Given the description of an element on the screen output the (x, y) to click on. 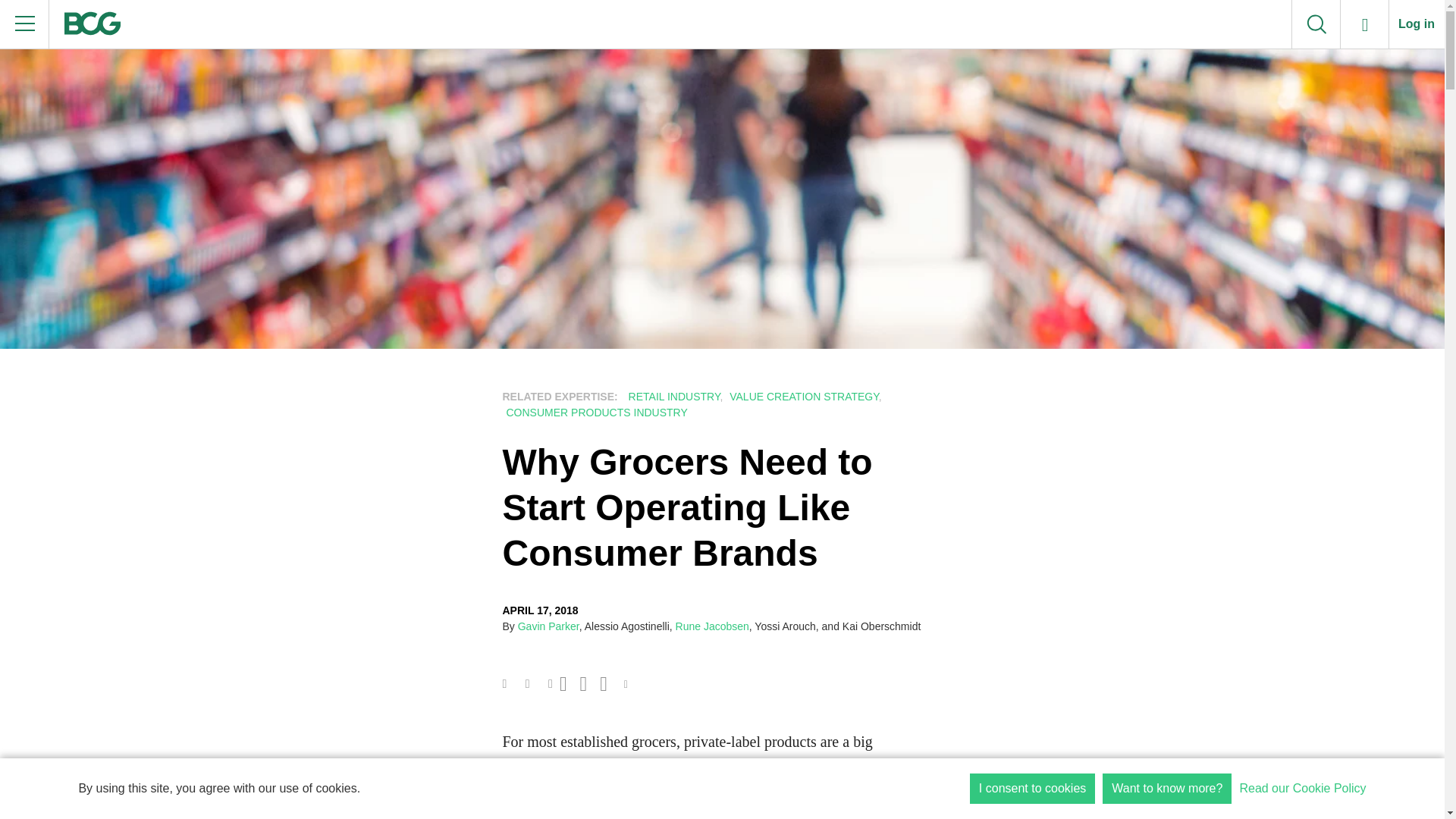
Gavin Parker (548, 625)
CONSUMER PRODUCTS INDUSTRY (594, 412)
Log in (1416, 24)
RETAIL INDUSTRY (672, 396)
Rune Jacobsen (712, 625)
VALUE CREATION STRATEGY (802, 396)
